Given the description of an element on the screen output the (x, y) to click on. 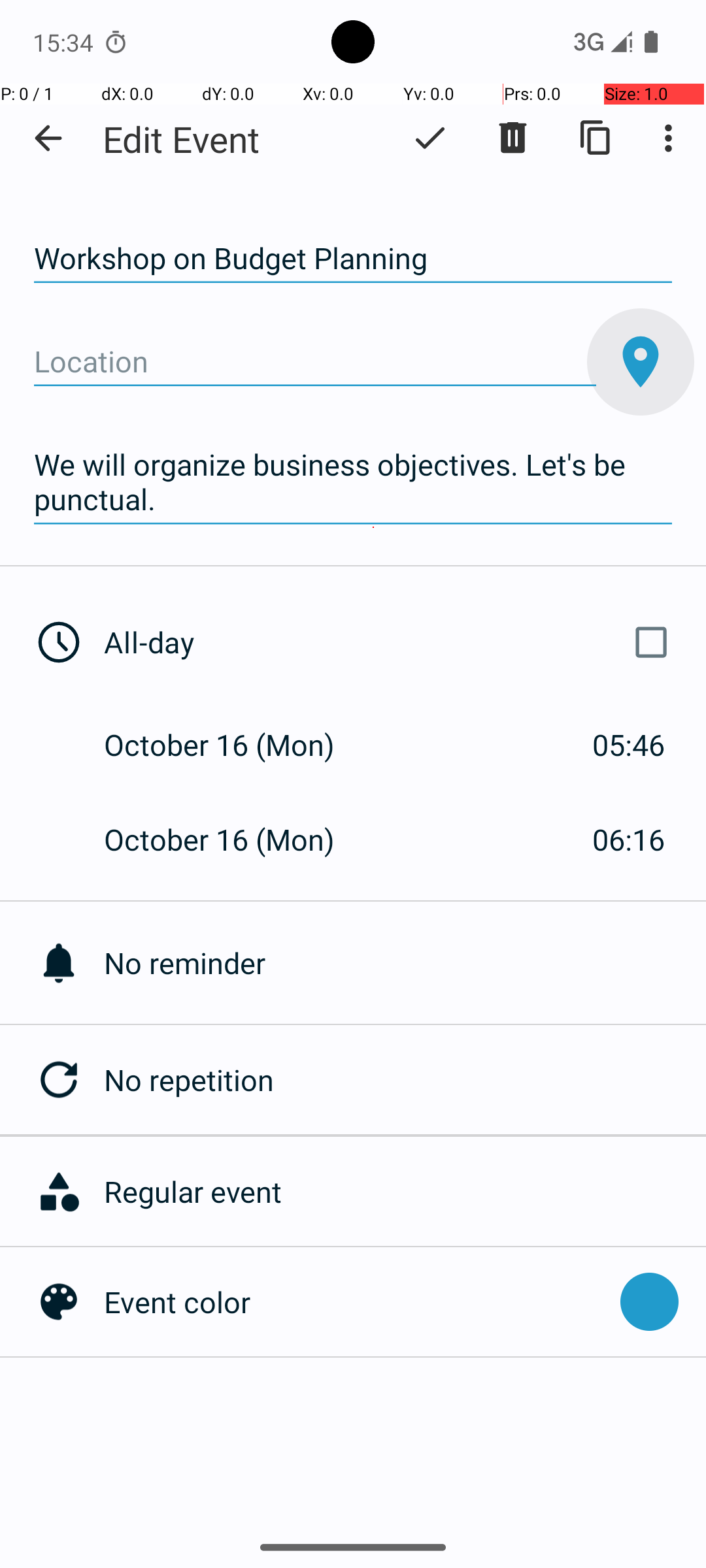
We will organize business objectives. Let's be punctual. Element type: android.widget.EditText (352, 482)
05:46 Element type: android.widget.TextView (628, 744)
06:16 Element type: android.widget.TextView (628, 838)
